Given the description of an element on the screen output the (x, y) to click on. 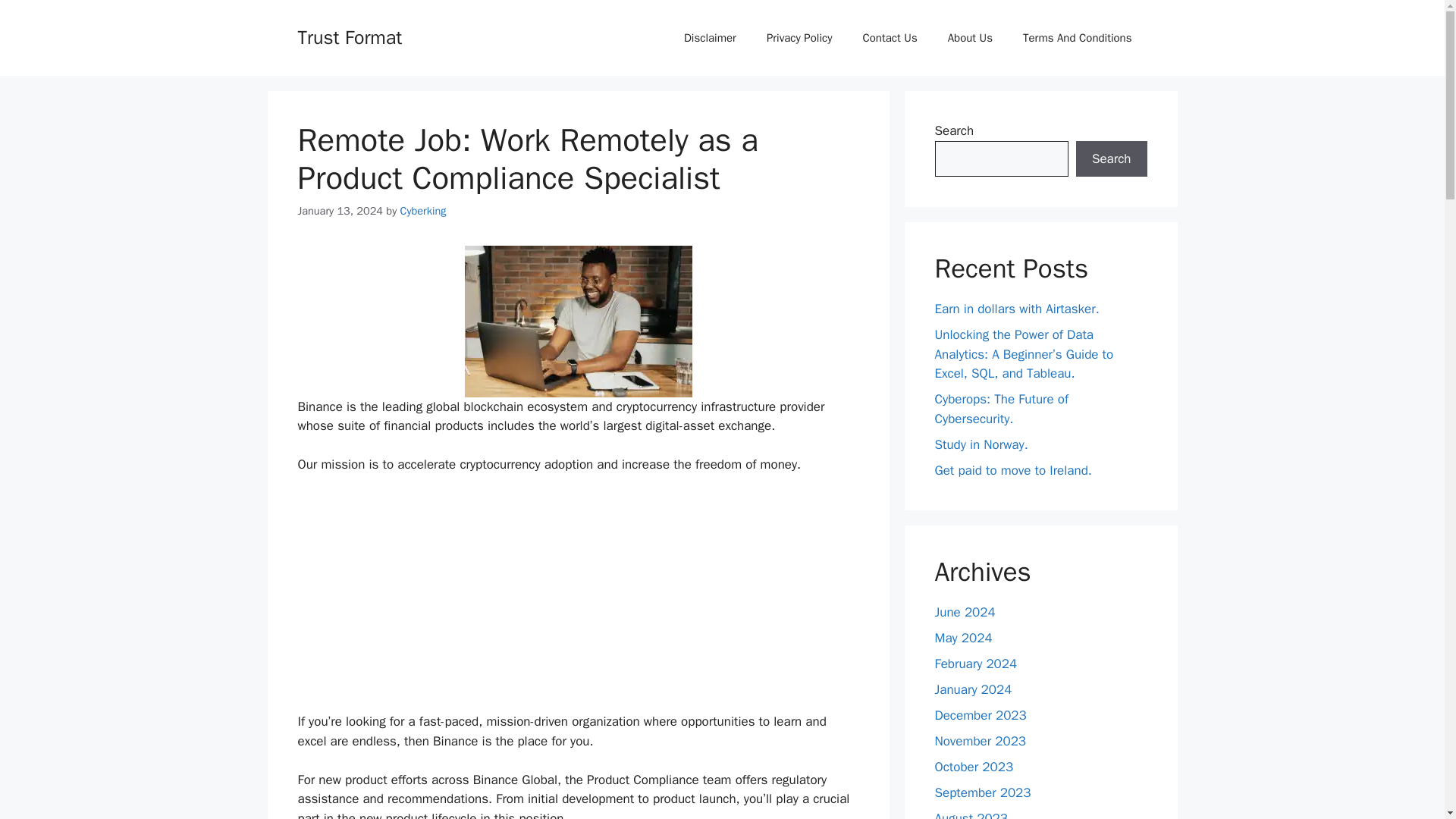
Study in Norway. (980, 444)
June 2024 (964, 611)
Trust Format (349, 37)
About Us (970, 37)
Privacy Policy (799, 37)
Get paid to move to Ireland. (1012, 470)
Contact Us (889, 37)
Earn in dollars with Airtasker. (1016, 308)
Cyberking (423, 210)
Cyberops: The Future of Cybersecurity. (1001, 408)
